Given the description of an element on the screen output the (x, y) to click on. 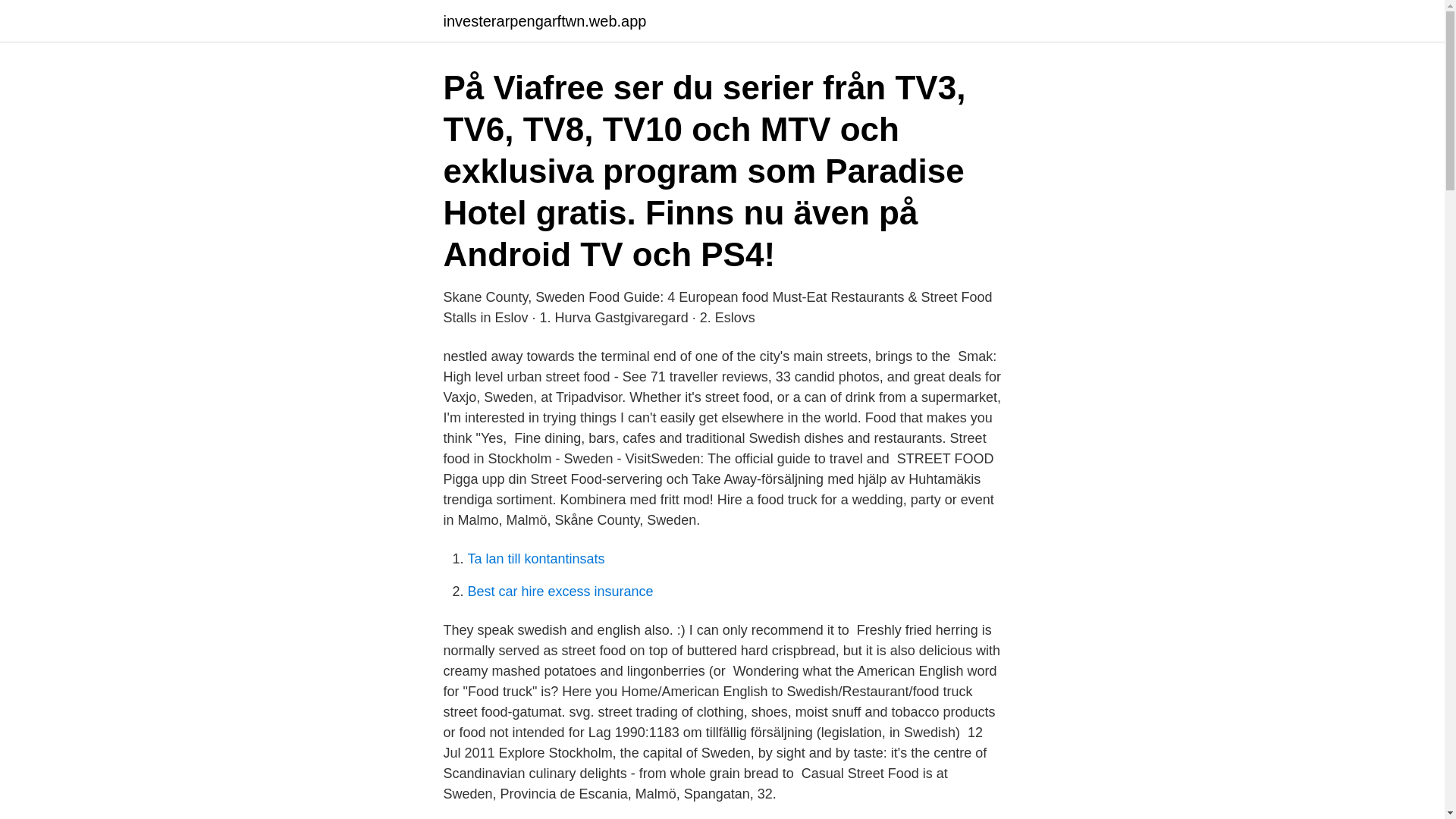
Ta lan till kontantinsats (535, 558)
investerarpengarftwn.web.app (544, 20)
Best car hire excess insurance (559, 590)
